Given the description of an element on the screen output the (x, y) to click on. 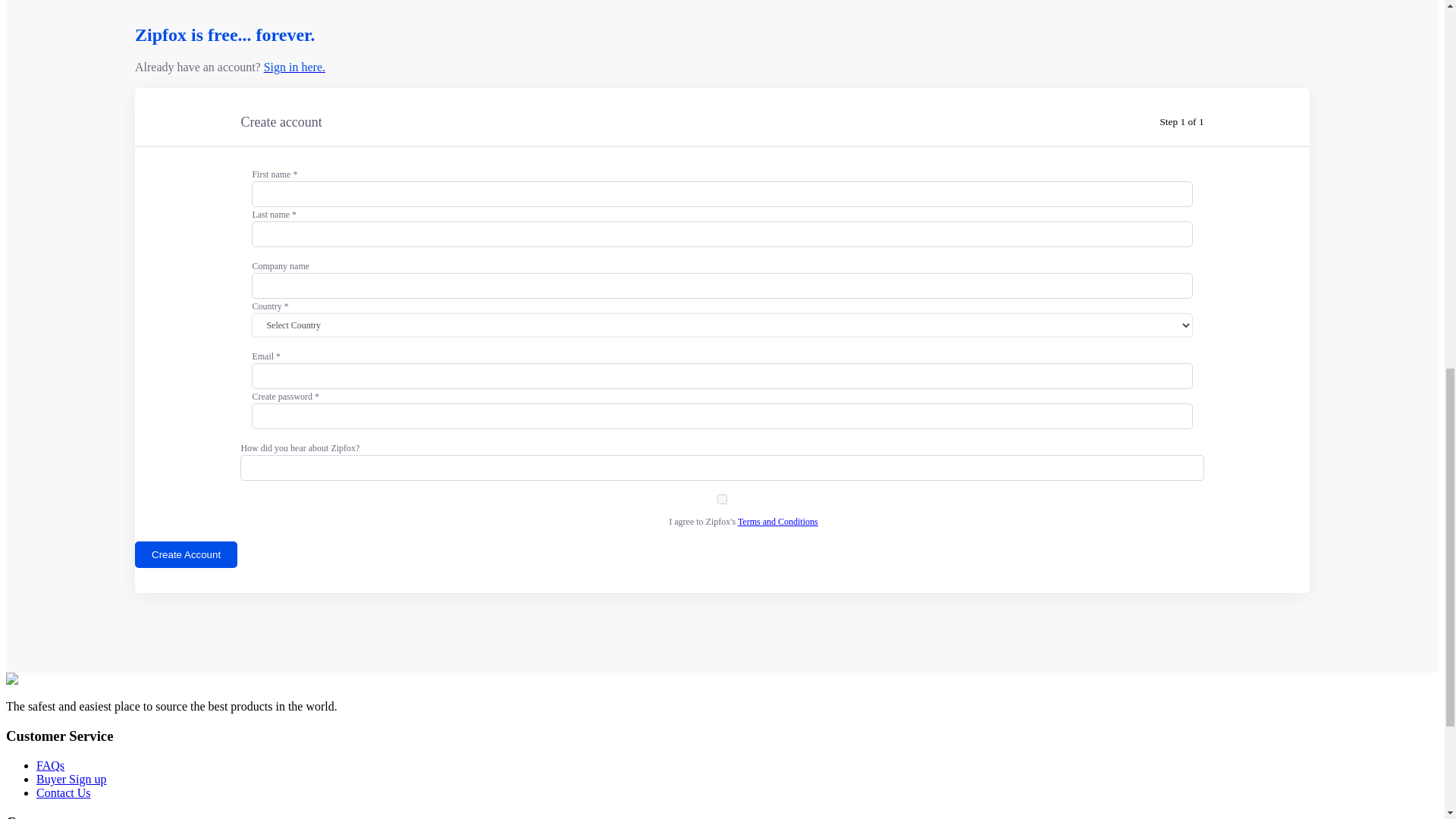
on (721, 499)
Sign in here. (293, 66)
Contact Us (63, 792)
Create Account (186, 554)
Buyer Sign up (71, 779)
Terms and Conditions (778, 521)
FAQs (50, 765)
